Given the description of an element on the screen output the (x, y) to click on. 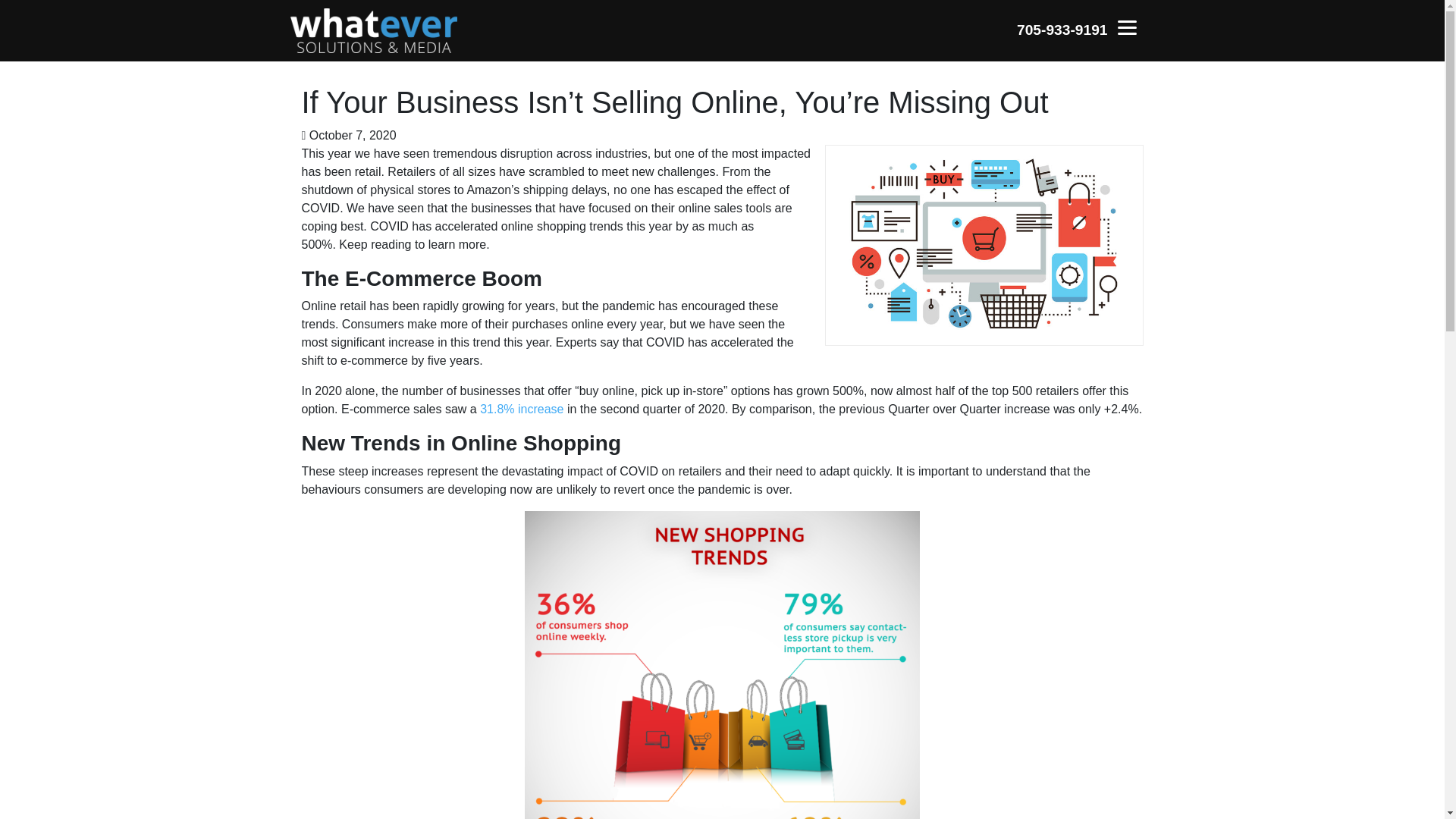
705-933-9191 (1061, 30)
705-933-9191 (1061, 30)
